Given the description of an element on the screen output the (x, y) to click on. 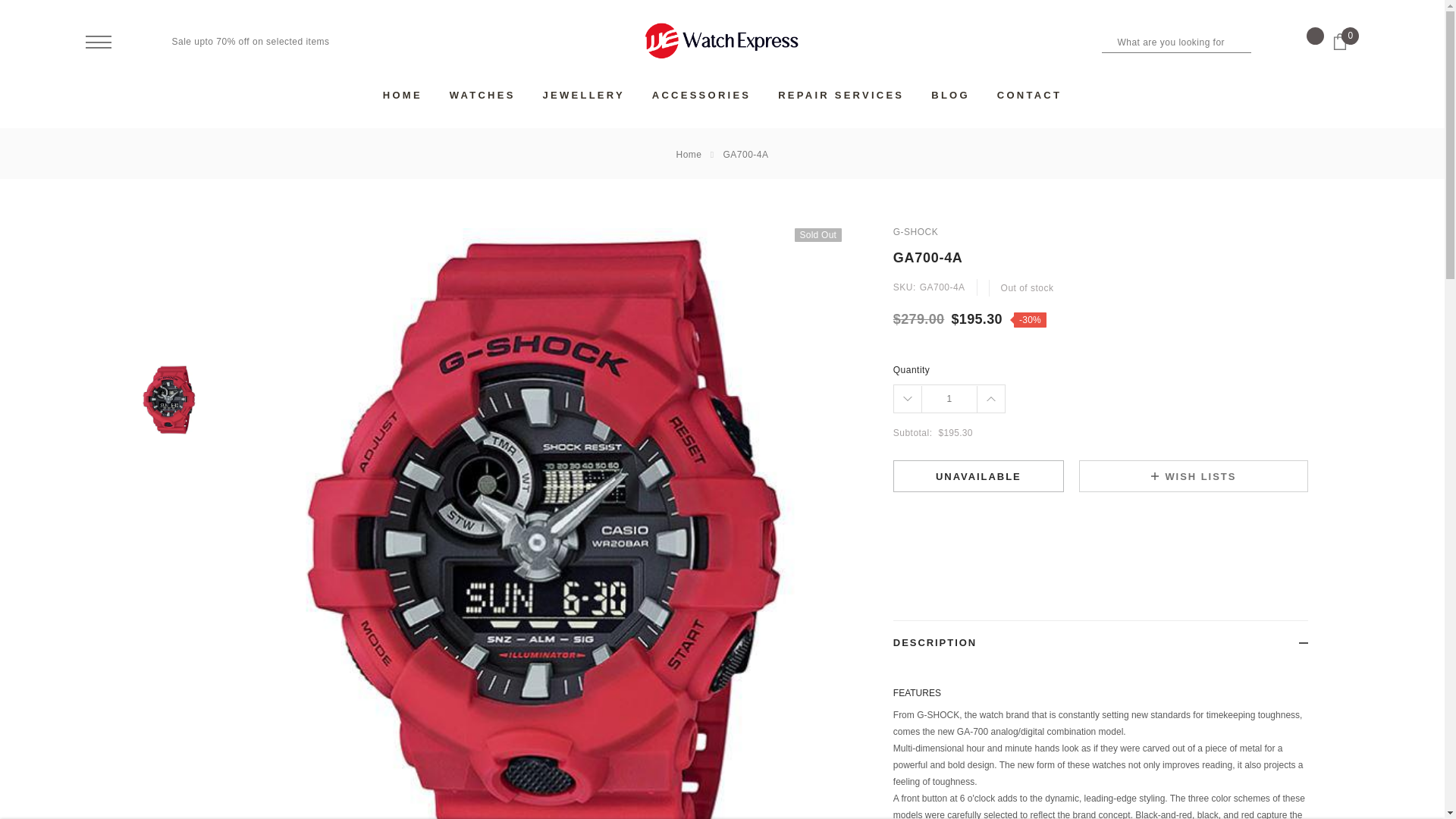
User Icon (141, 41)
1 (948, 398)
Menu left (97, 42)
WATCHES (482, 94)
search (1262, 41)
0 (1345, 47)
